Given the description of an element on the screen output the (x, y) to click on. 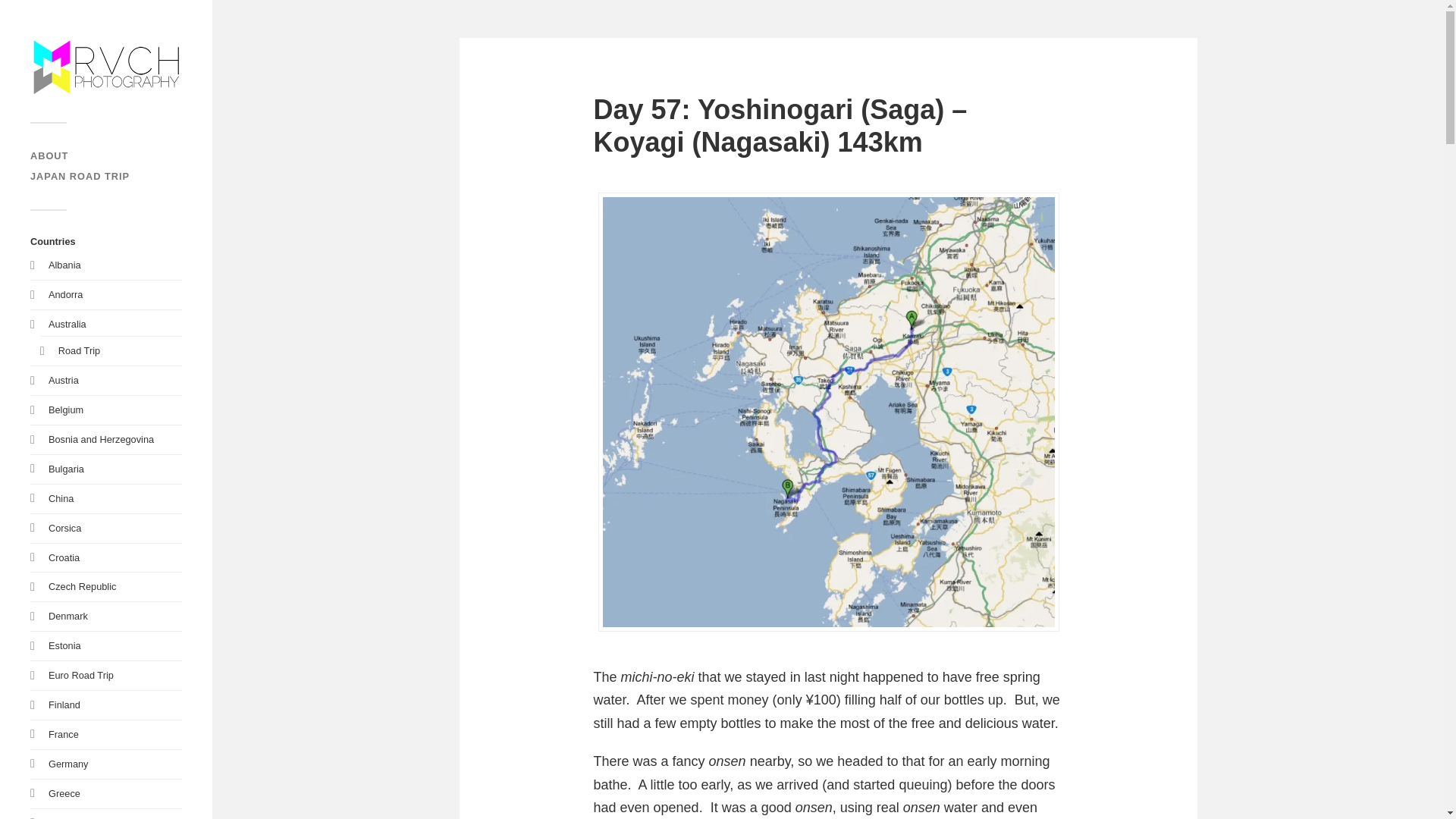
Albania (64, 265)
ABOUT (49, 155)
Road Trip (79, 350)
Australia (66, 324)
Corsica (64, 527)
Belgium (65, 409)
China (61, 498)
Estonia (64, 645)
Greece (64, 793)
Germany (68, 763)
Hungary (66, 818)
Finland (64, 704)
Czech Republic (82, 586)
Andorra (65, 294)
Bosnia and Herzegovina (101, 439)
